Given the description of an element on the screen output the (x, y) to click on. 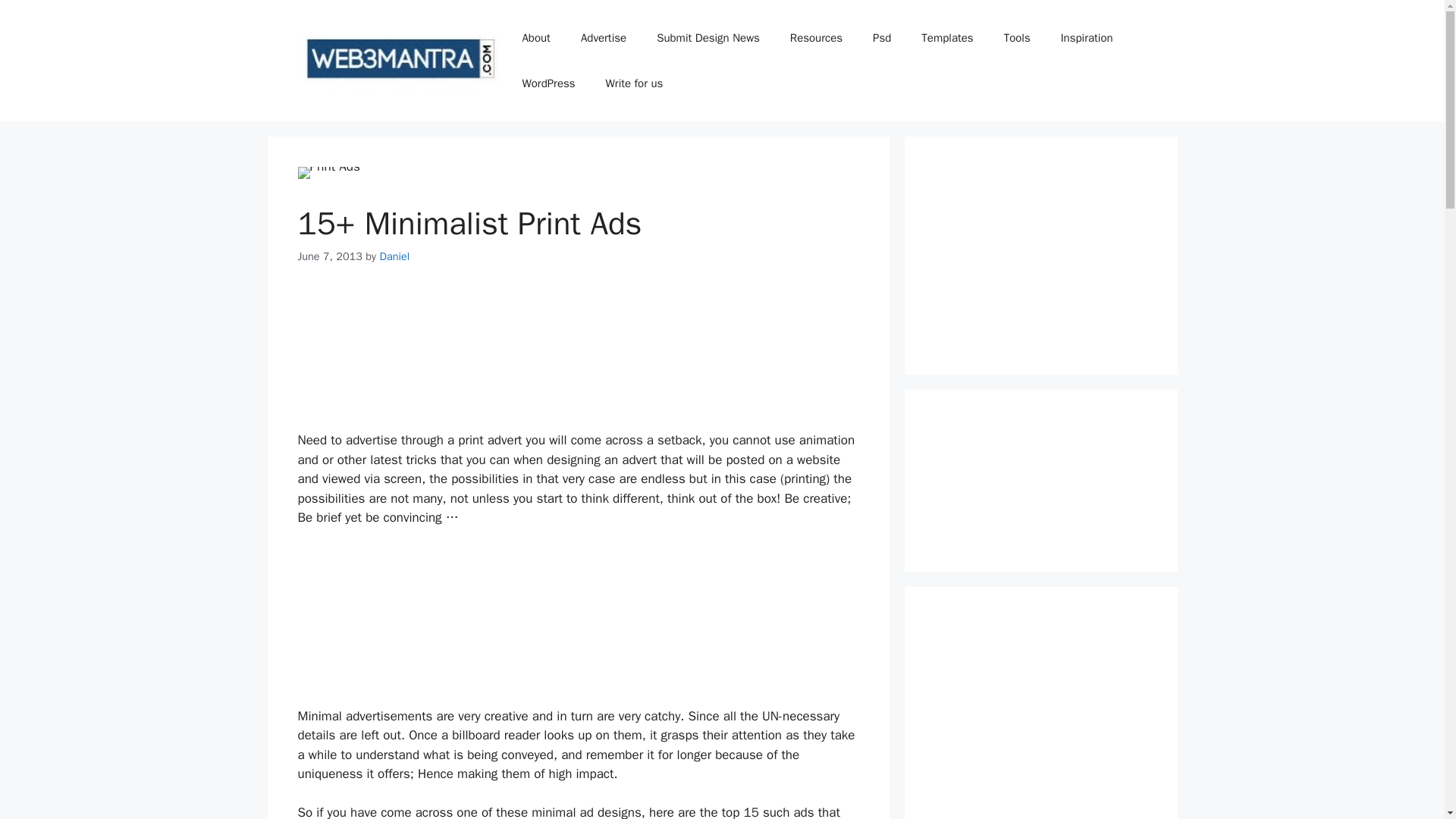
Tools (1016, 37)
Inspiration (1086, 37)
Advertise (604, 37)
WordPress (547, 83)
Resources (815, 37)
Daniel (393, 255)
Advertisement (1040, 480)
Advertisement (578, 360)
Advertisement (578, 617)
Psd (881, 37)
Advertisement (1040, 255)
View all posts by Daniel (393, 255)
Submit Design News (708, 37)
Templates (946, 37)
Advertisement (1040, 718)
